Given the description of an element on the screen output the (x, y) to click on. 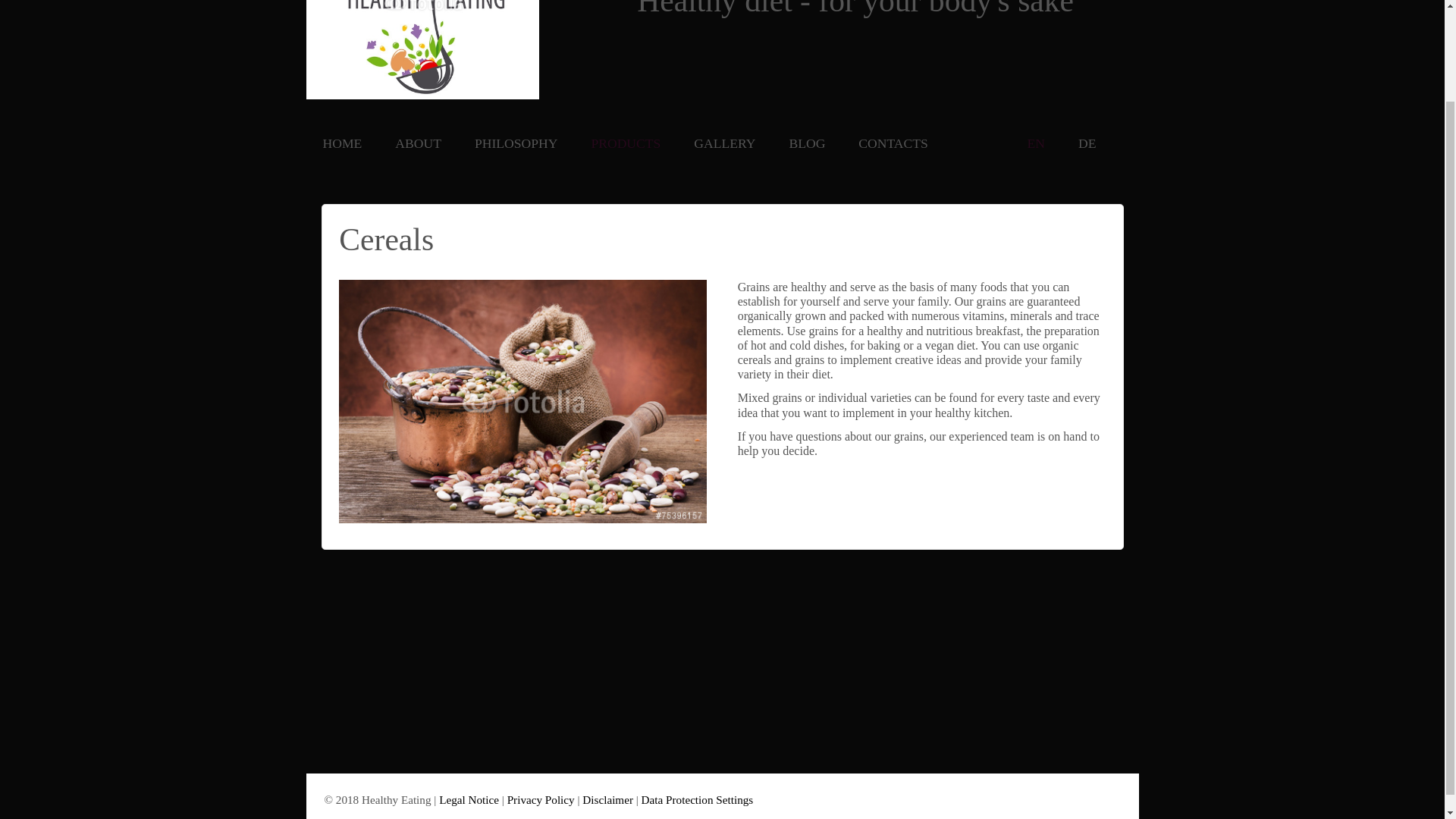
GALLERY (724, 144)
Data Protection Settings (698, 799)
PRODUCTS (624, 144)
DE (1086, 144)
BLOG (806, 144)
ABOUT (417, 144)
PHILOSOPHY (516, 144)
Disclaimer (607, 799)
Privacy Policy (540, 799)
HOME (342, 144)
CONTACTS (892, 144)
Legal Notice (469, 799)
EN (1035, 144)
